Given the description of an element on the screen output the (x, y) to click on. 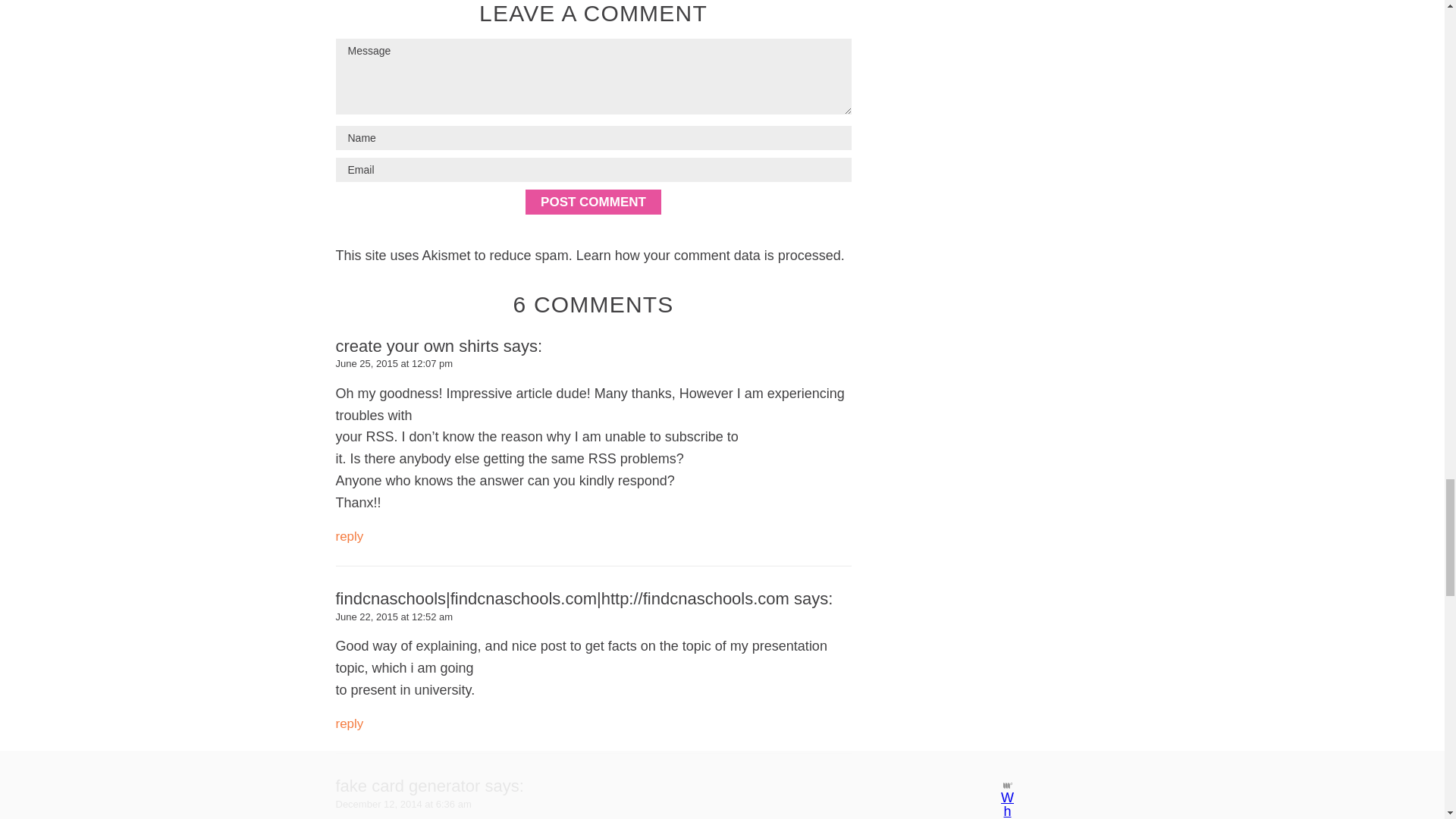
Post Comment (593, 201)
